Given the description of an element on the screen output the (x, y) to click on. 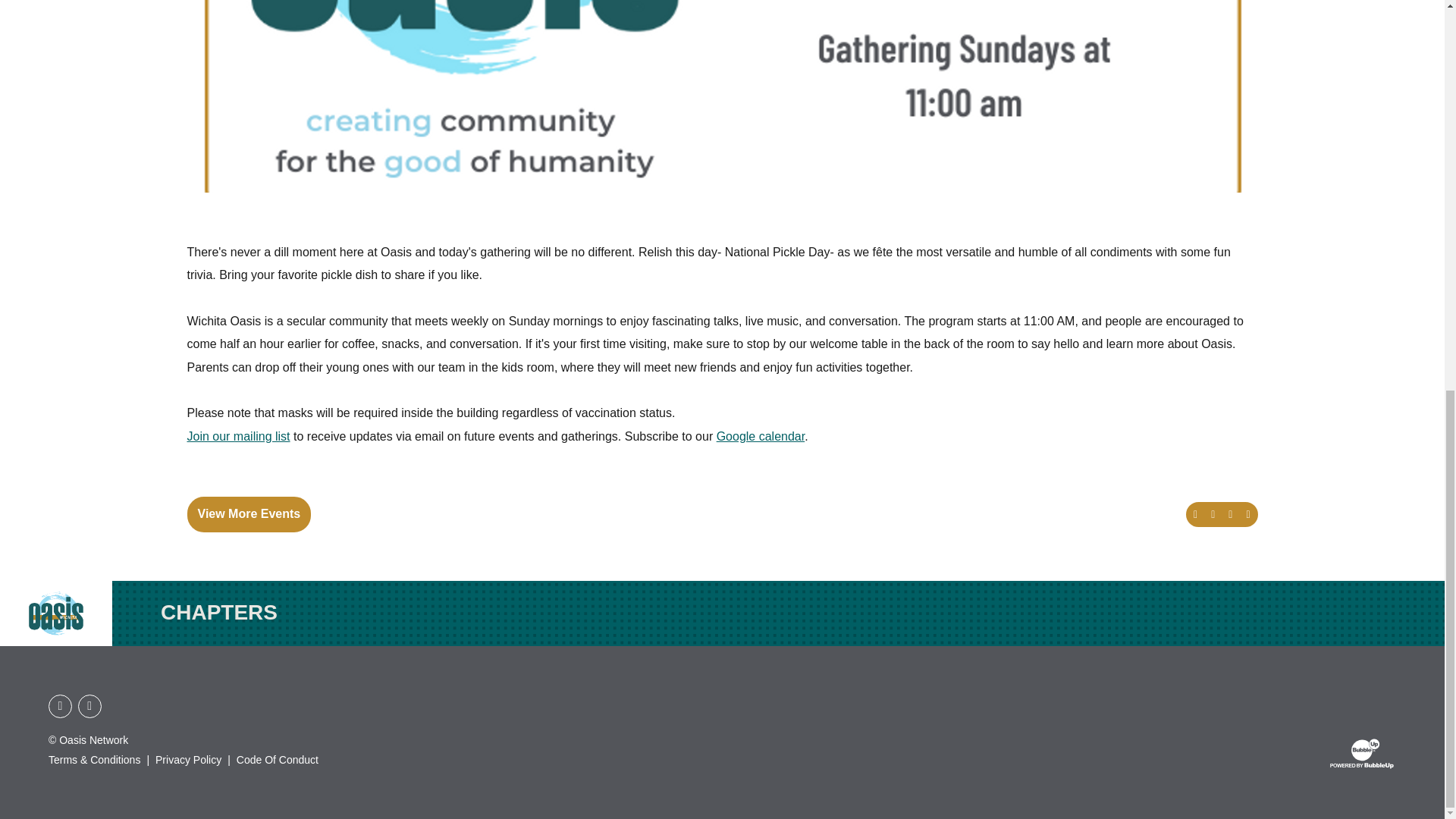
Code Of Conduct (276, 760)
View More Events (248, 513)
Facebook (60, 706)
Privacy Policy (188, 760)
Google calendar (760, 436)
Meetup (89, 706)
Join our mailing list (237, 436)
